Given the description of an element on the screen output the (x, y) to click on. 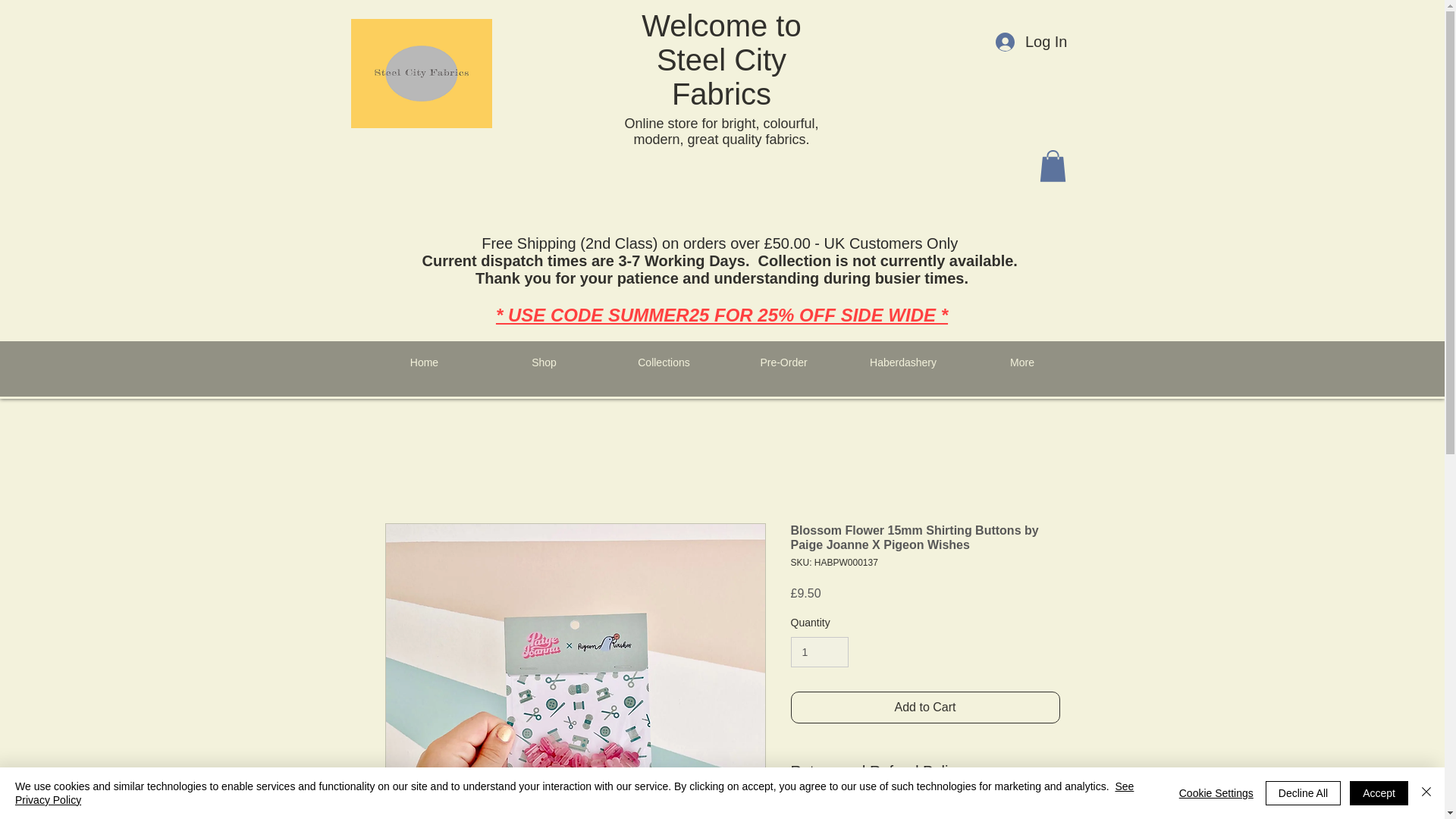
Home (423, 362)
Shop (543, 362)
Log In (1031, 41)
1 (818, 652)
